Given the description of an element on the screen output the (x, y) to click on. 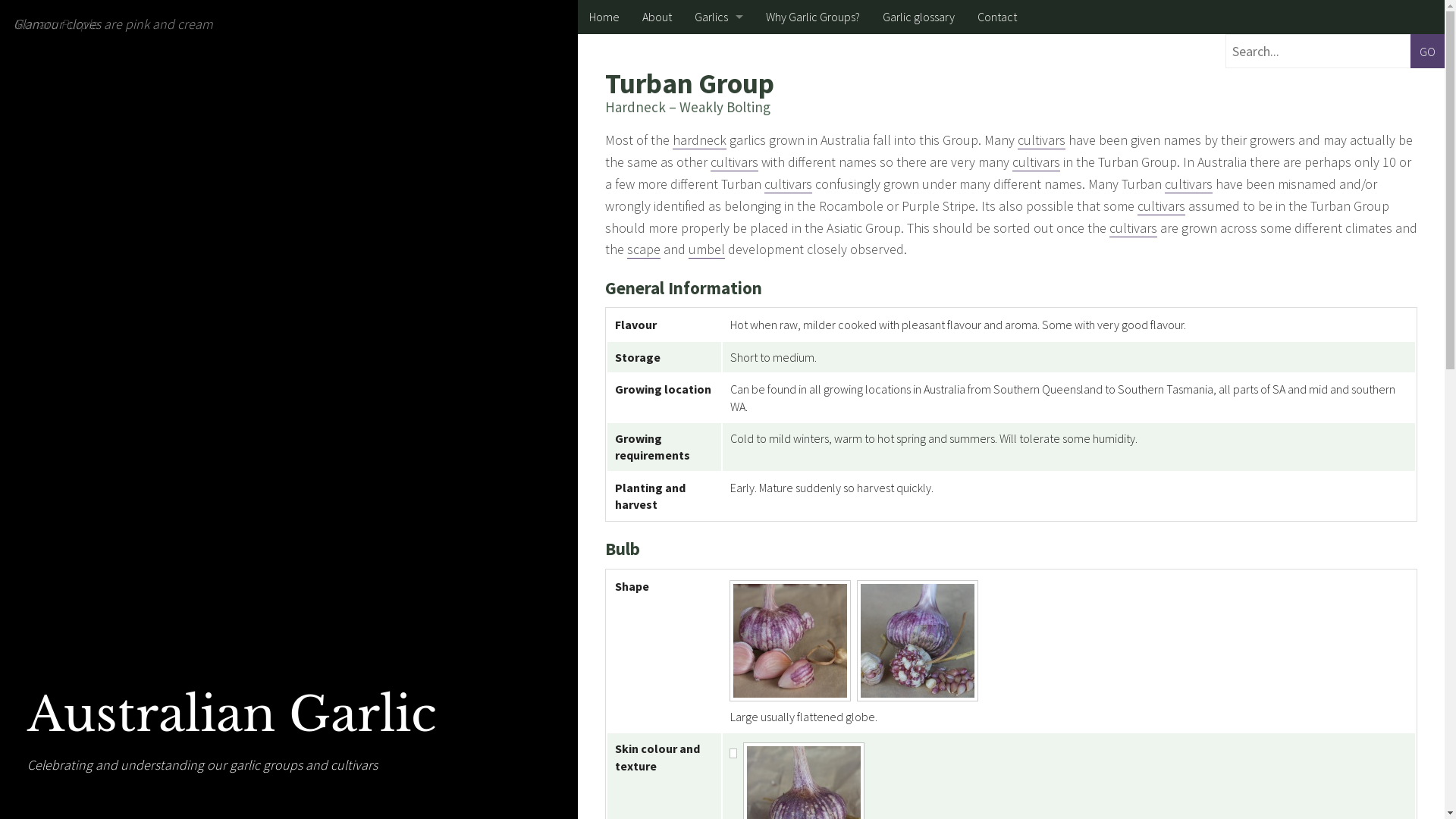
cultivars Element type: text (1036, 162)
cultivars Element type: text (734, 162)
Contact Element type: text (997, 17)
Creole Group Element type: text (718, 187)
scape Element type: text (643, 249)
cultivars Element type: text (1161, 206)
cultivars Element type: text (1133, 228)
Garlic glossary Element type: text (918, 17)
Turban Group Element type: text (718, 255)
Garlics Element type: text (718, 17)
Porcelain Group Element type: text (718, 358)
Middle Eastern Group Element type: text (718, 221)
Home Element type: text (603, 17)
Monaro Purple Element type: hover (790, 640)
Subtropical Group Element type: text (718, 119)
Asiatic Group Element type: text (718, 153)
Rocambole Group Element type: text (718, 392)
cultivars Element type: text (1041, 140)
Silverskin Group Element type: text (718, 85)
cultivars Element type: text (788, 184)
Artichoke Group Element type: text (718, 51)
Glamour bulb and umbel Element type: hover (733, 752)
hardneck Element type: text (699, 140)
Glazed Purple Stripe Group Element type: text (718, 290)
GO Element type: text (1427, 51)
cultivars Element type: text (1188, 184)
Why Garlic Groups? Element type: text (812, 17)
Standard Purple Stripe Group Element type: text (718, 426)
umbel Element type: text (706, 249)
Marbled Purple Stripe Group Element type: text (718, 324)
About Element type: text (656, 17)
267 Ontos Purple bulb, umbels and bulbils Element type: hover (917, 640)
